Given the description of an element on the screen output the (x, y) to click on. 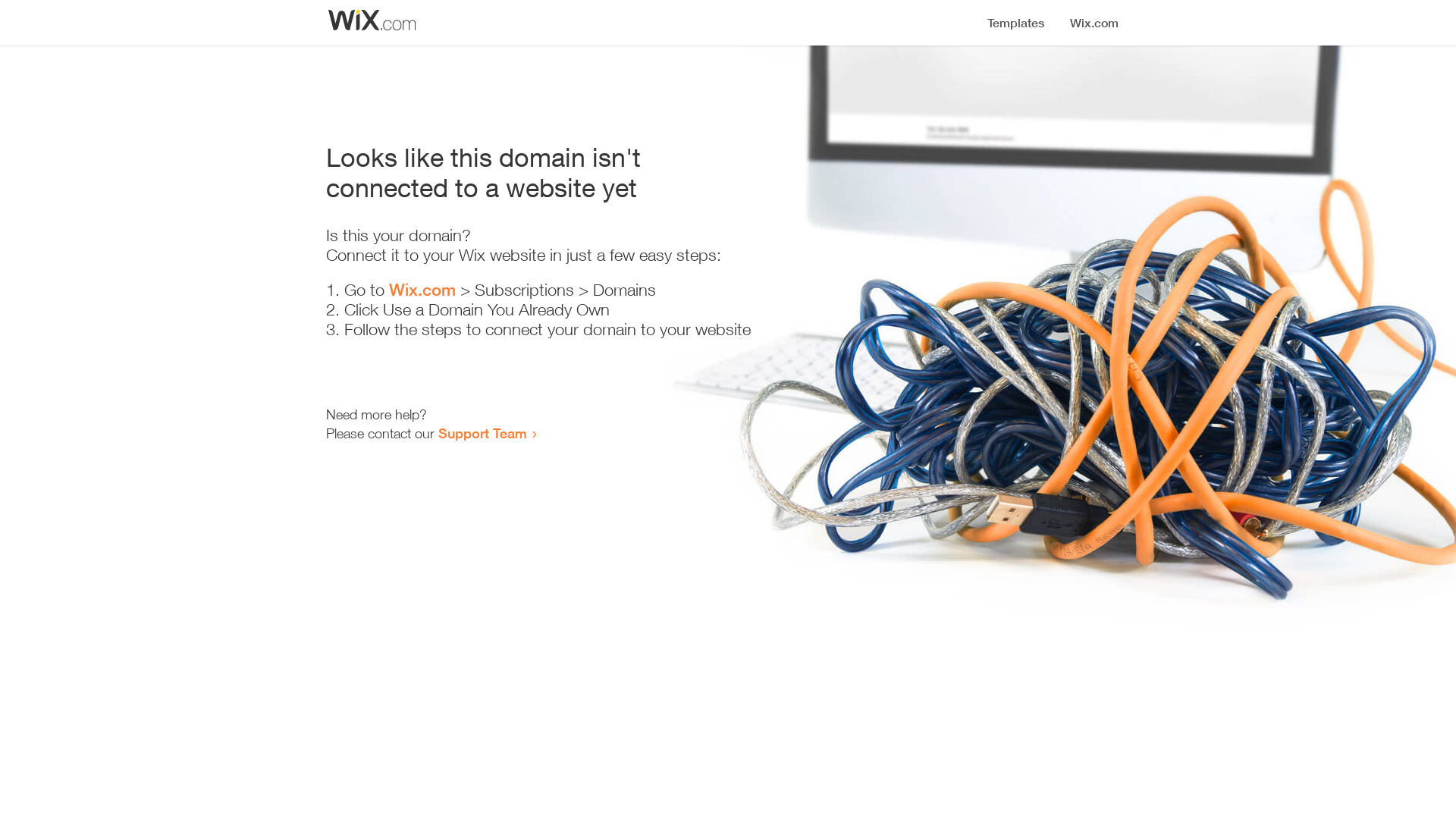
Wix.com Element type: text (422, 289)
Support Team Element type: text (482, 432)
